Given the description of an element on the screen output the (x, y) to click on. 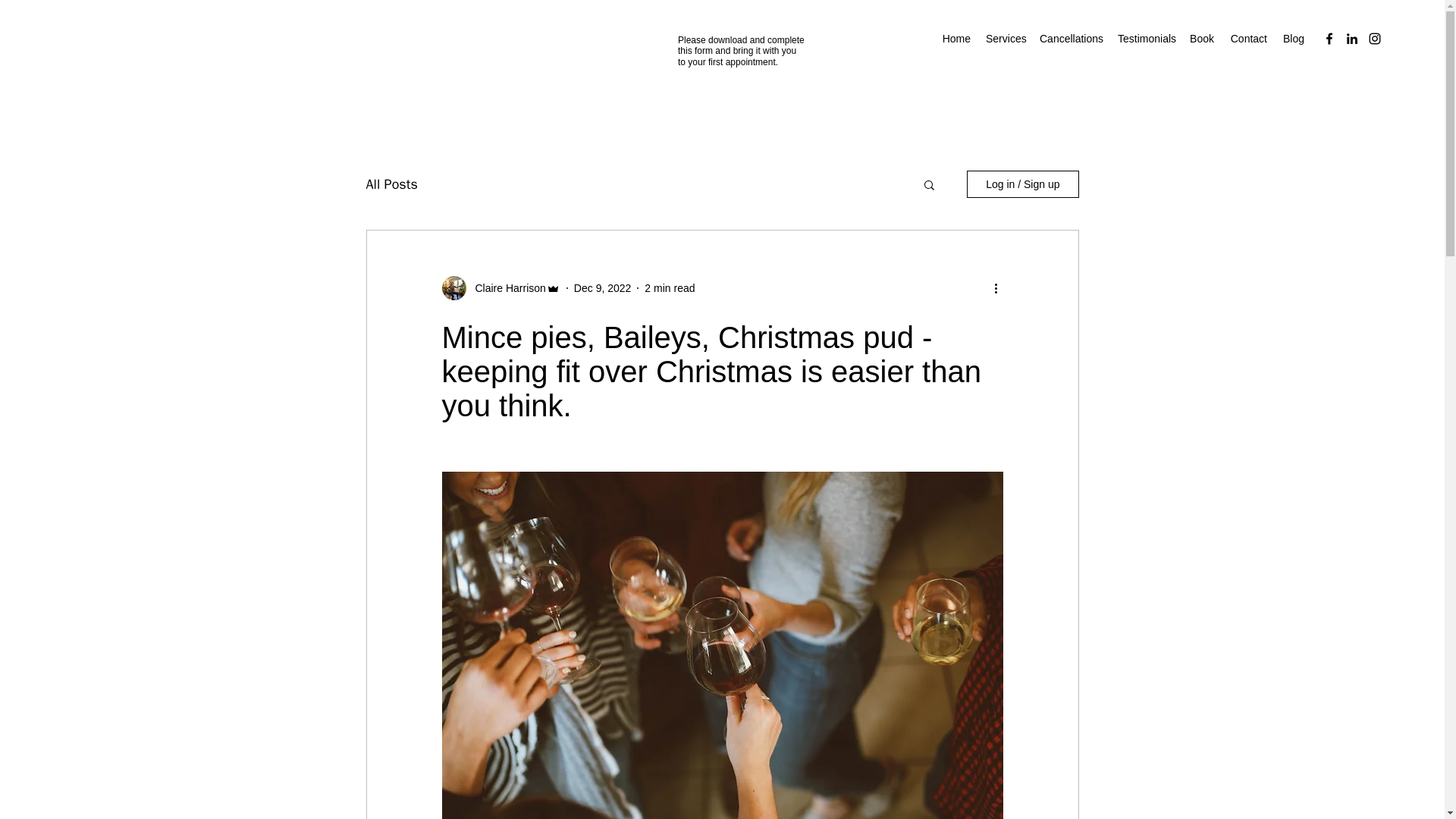
All Posts (390, 184)
2 min read (669, 287)
Book (1201, 38)
Home (956, 38)
Dec 9, 2022 (602, 287)
Testimonials (1145, 38)
Contact (1248, 38)
Cancellations (1070, 38)
Claire Harrison (504, 288)
Blog (1293, 38)
